Given the description of an element on the screen output the (x, y) to click on. 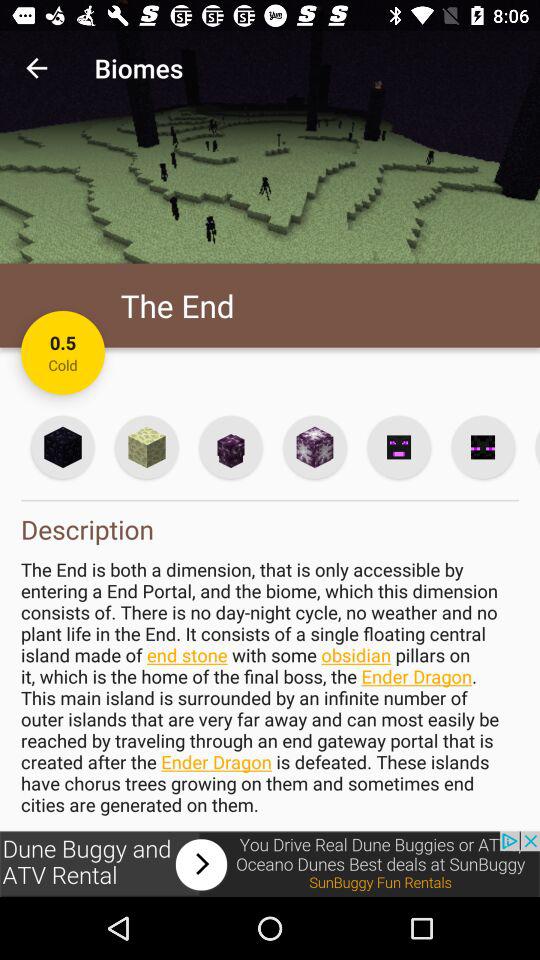
block selection button (62, 446)
